Given the description of an element on the screen output the (x, y) to click on. 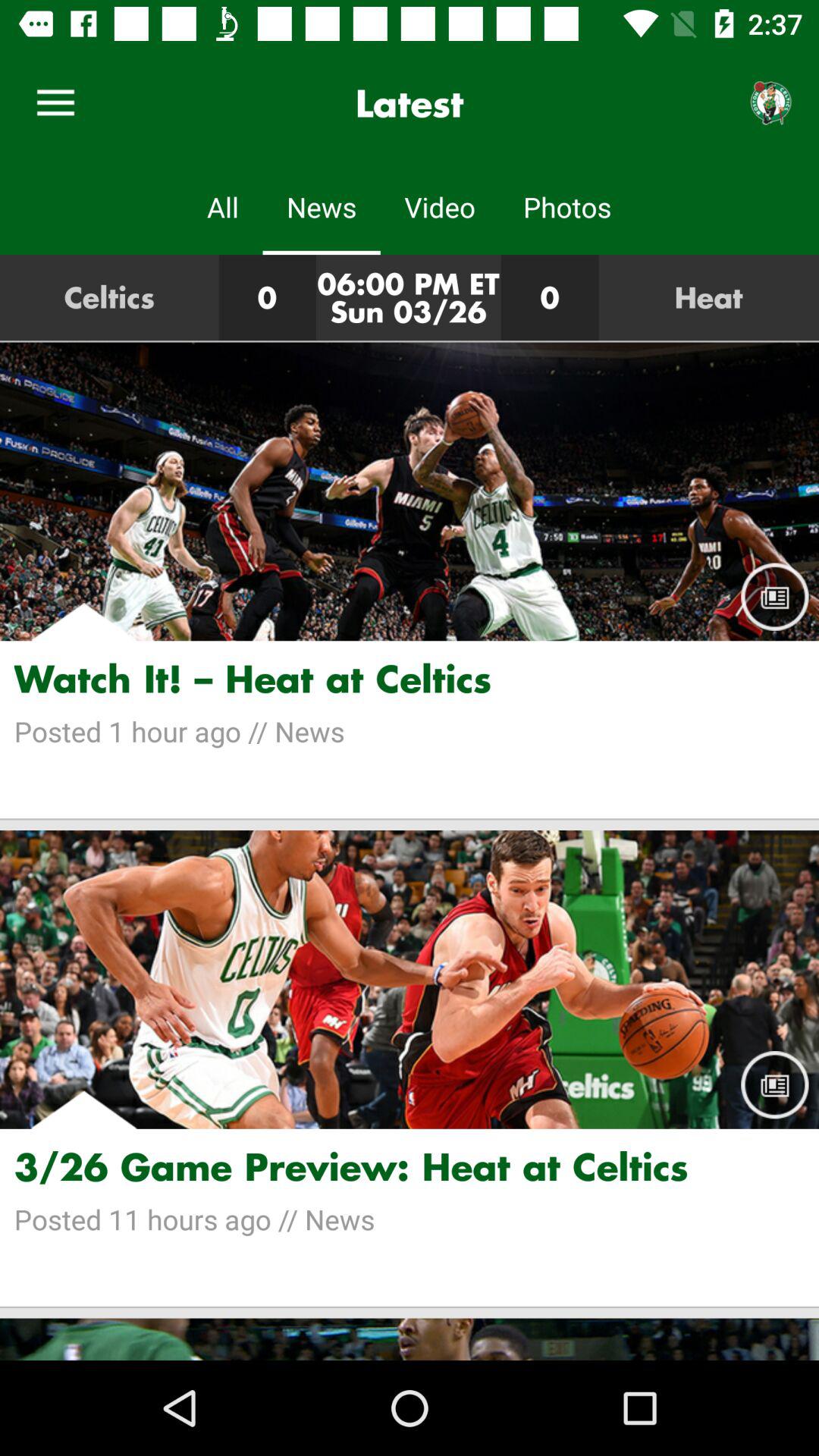
choose the icon to the left of the latest item (55, 103)
